Given the description of an element on the screen output the (x, y) to click on. 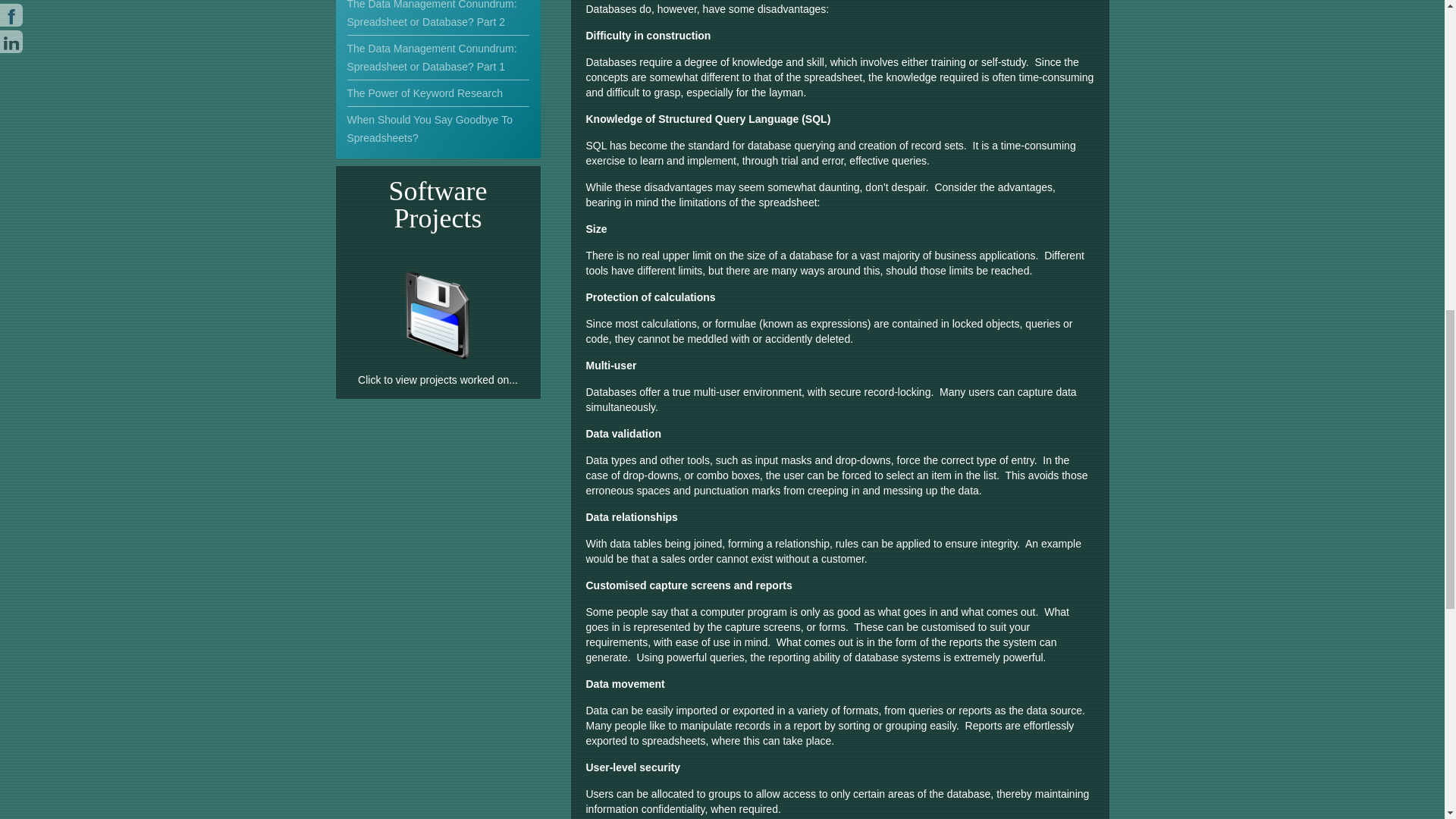
Software Projects (438, 315)
When Should You Say Goodbye To Spreadsheets? (438, 128)
The Power of Keyword Research (438, 93)
Software Projects (438, 357)
